Given the description of an element on the screen output the (x, y) to click on. 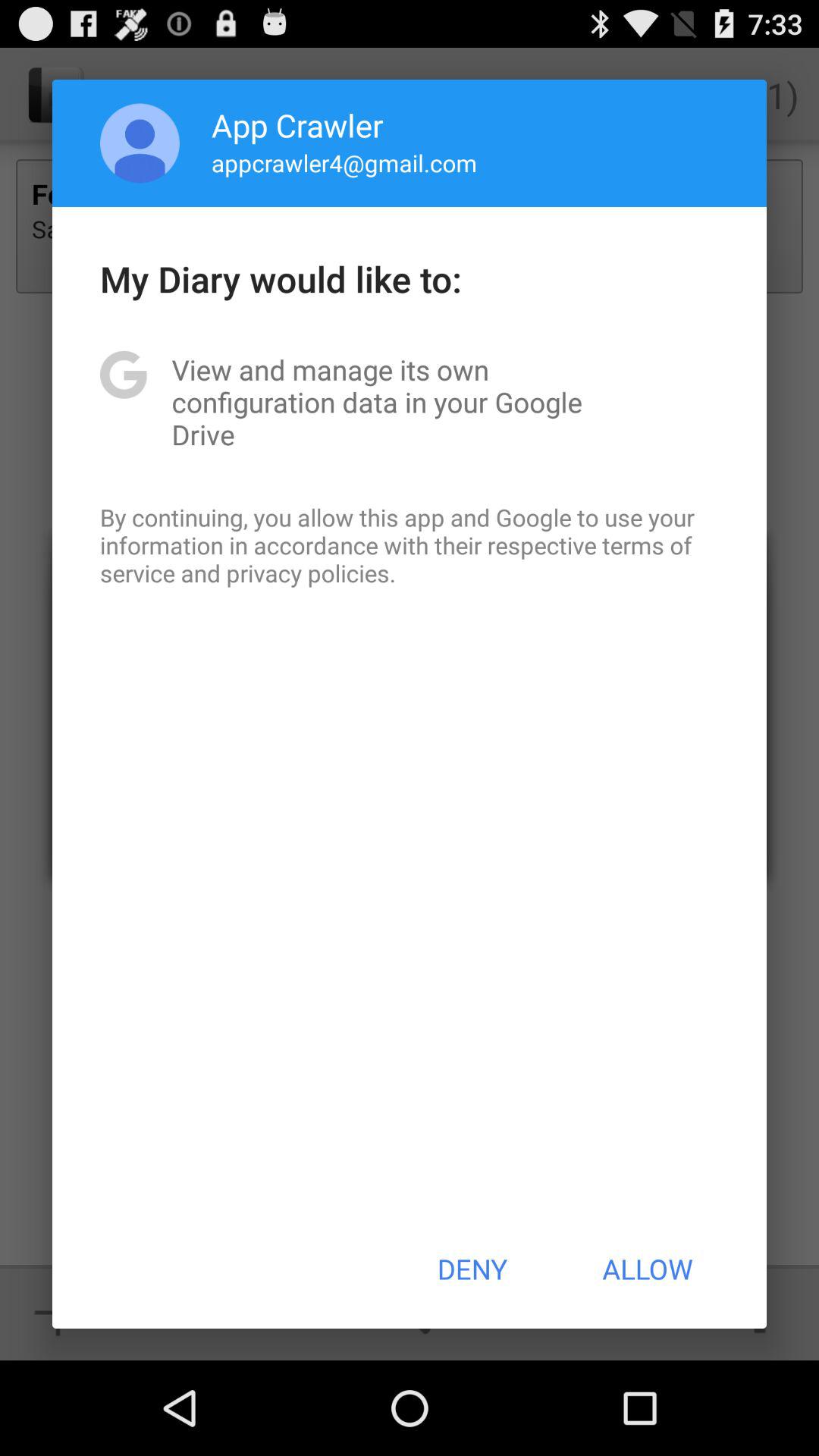
tap the view and manage item (409, 401)
